Given the description of an element on the screen output the (x, y) to click on. 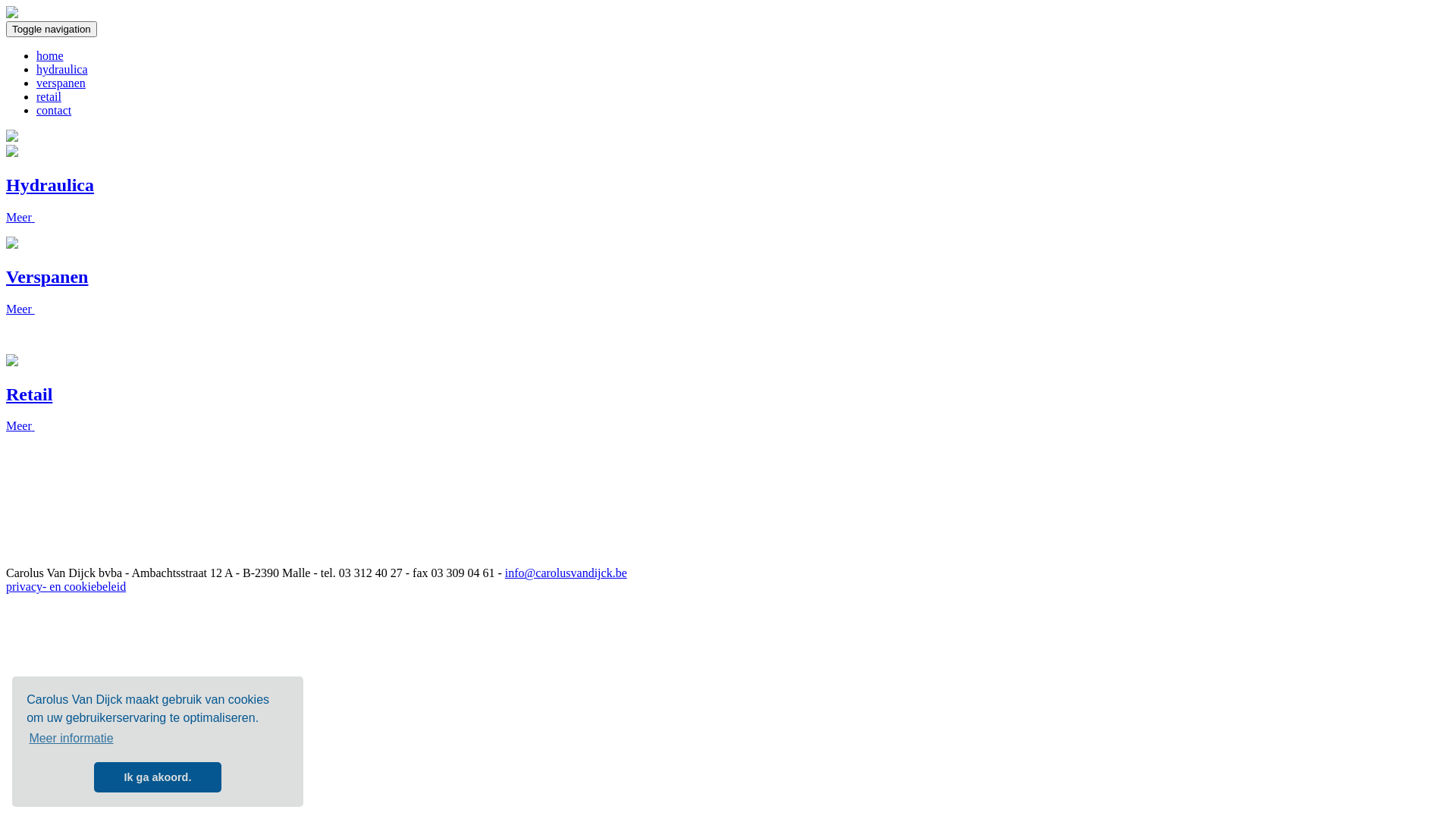
Retail Element type: text (29, 394)
verspanen Element type: text (60, 82)
Hydraulica Element type: text (50, 184)
info@carolusvandijck.be Element type: text (566, 572)
retail Element type: text (48, 96)
contact Element type: text (53, 109)
Meer informatie Element type: text (71, 738)
home Element type: text (49, 55)
Ik ga akoord. Element type: text (157, 777)
privacy- en cookiebeleid Element type: text (65, 586)
hydraulica Element type: text (61, 68)
Toggle navigation Element type: text (51, 29)
Meer  Element type: text (20, 425)
Meer  Element type: text (20, 308)
Meer  Element type: text (20, 216)
Verspanen Element type: text (46, 276)
